Given the description of an element on the screen output the (x, y) to click on. 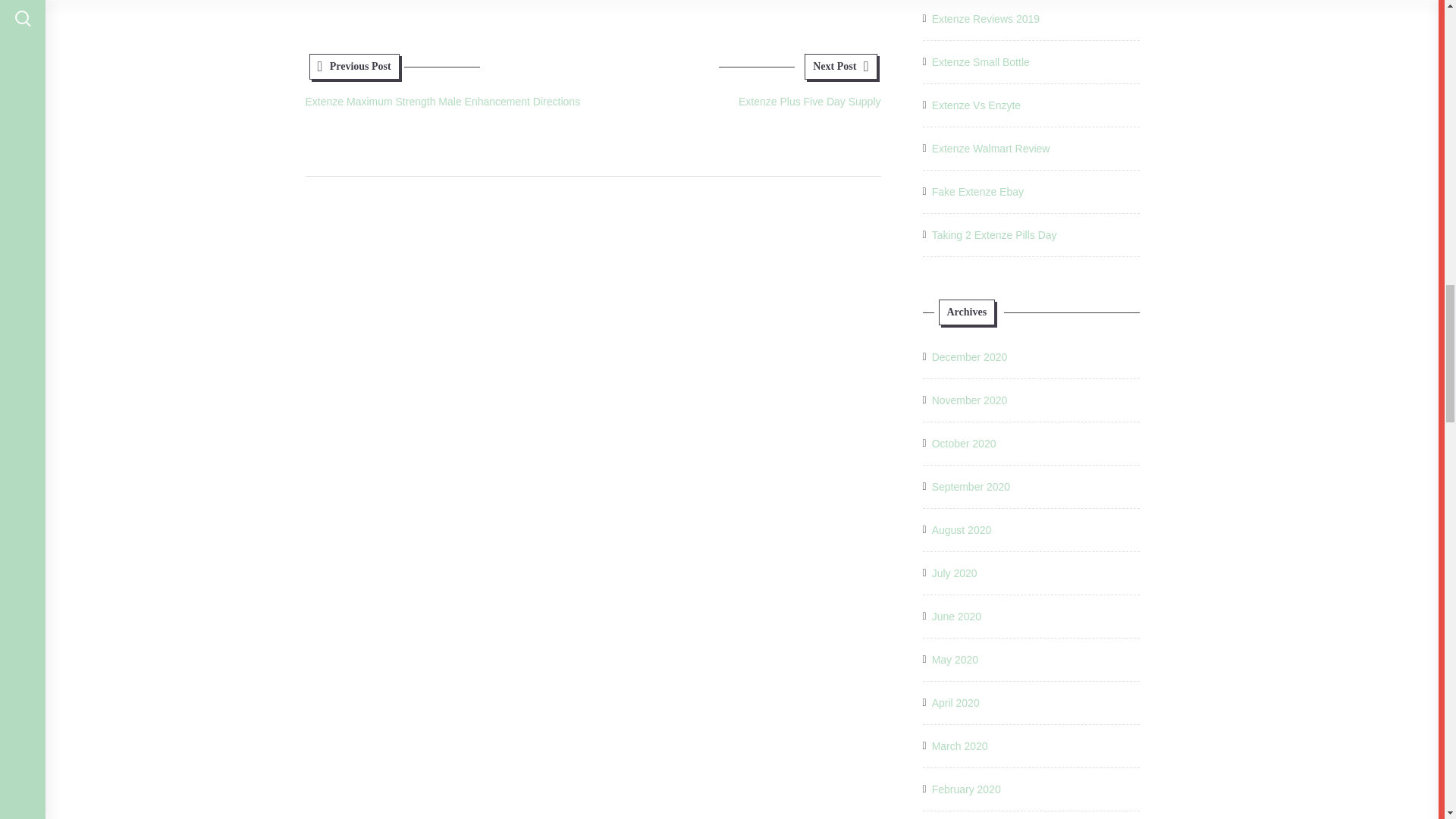
Extenze Reviews 2019 (985, 18)
